Given the description of an element on the screen output the (x, y) to click on. 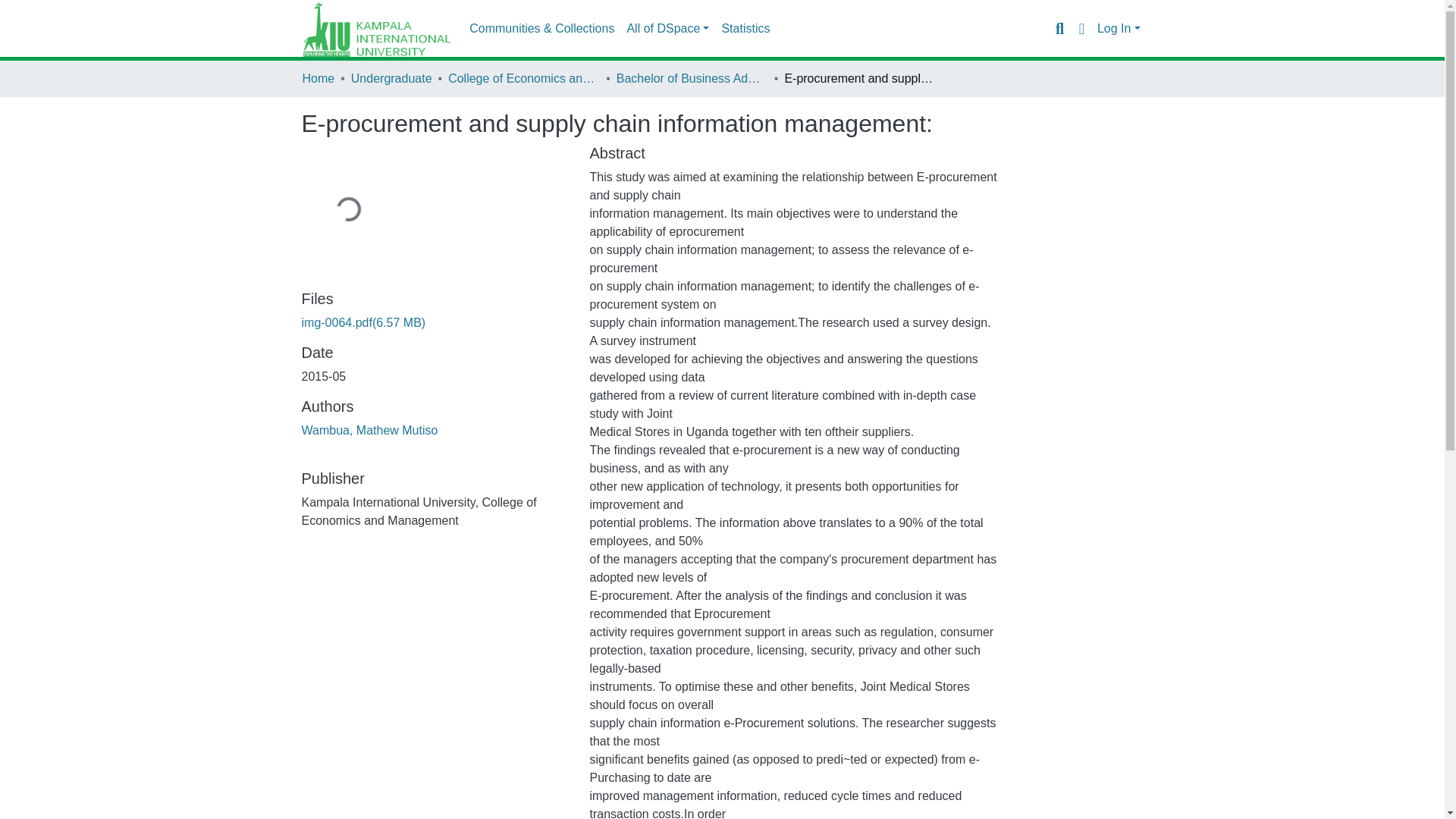
College of Economics and Management (523, 78)
Language switch (1081, 28)
Statistics (745, 28)
Statistics (745, 28)
Home (317, 78)
All of DSpace (667, 28)
Search (1058, 28)
Wambua, Mathew Mutiso (369, 430)
Undergraduate (391, 78)
Log In (1118, 28)
